Given the description of an element on the screen output the (x, y) to click on. 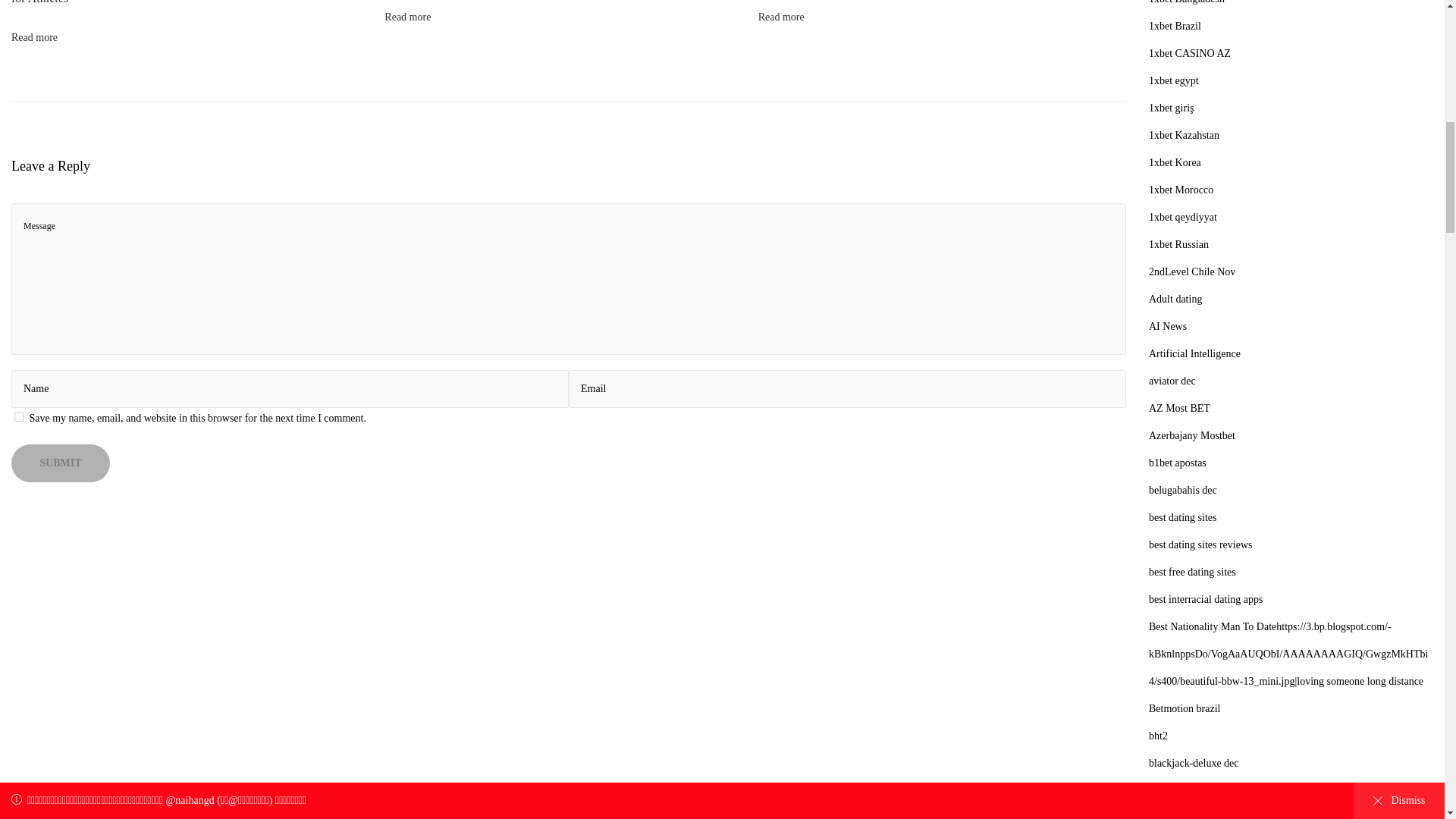
Read more (34, 37)
Submit (60, 463)
Read more (407, 16)
yes (19, 416)
Read more (781, 16)
Submit (60, 463)
